Given the description of an element on the screen output the (x, y) to click on. 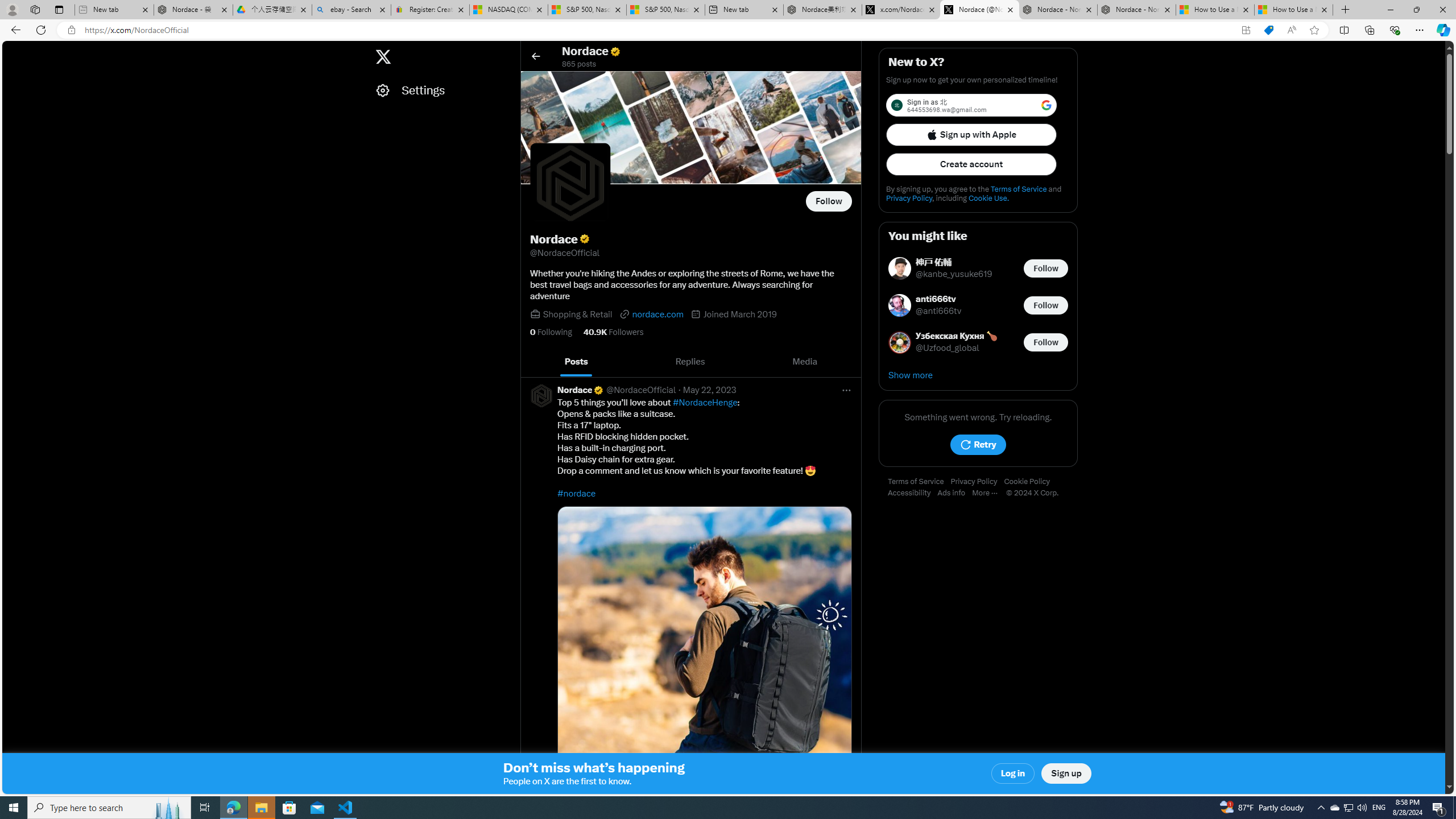
Class: LgbsSe-Bz112c (1046, 104)
Settings (441, 90)
anti666tv @anti666tv Follow @anti666tv (978, 305)
40.9K Followers (612, 331)
S&P 500, Nasdaq end lower, weighed by Nvidia dip | Watch (665, 9)
Follow @anti666tv (1045, 304)
